Given the description of an element on the screen output the (x, y) to click on. 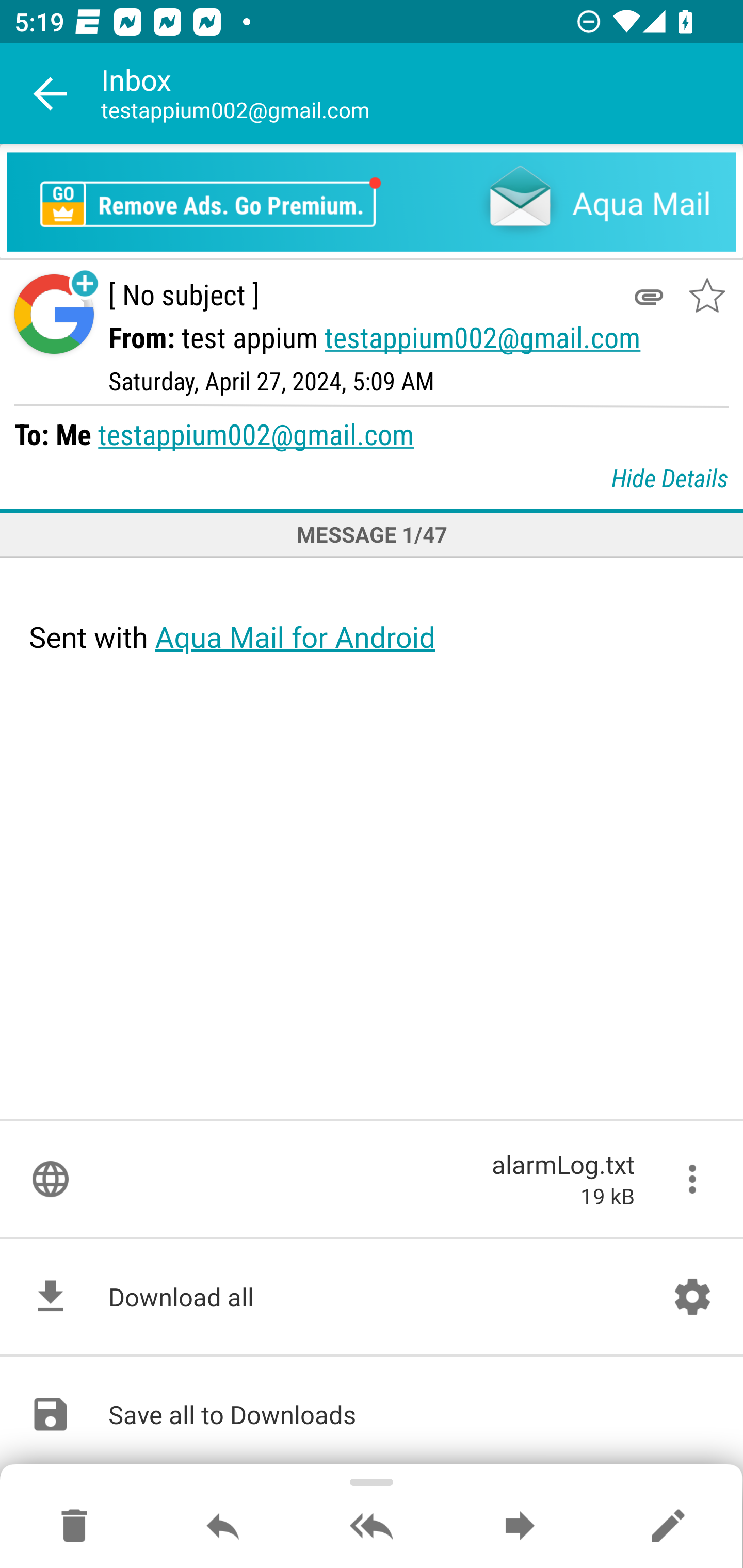
Navigate up (50, 93)
Inbox testappium002@gmail.com (422, 93)
Sender contact button (53, 314)
alarmLog.txt 19 kB More options (371, 1179)
More options (692, 1179)
Download all Account setup (371, 1296)
Account setup (692, 1296)
Save all to Downloads (371, 1414)
Move to Deleted (74, 1527)
Reply (222, 1527)
Reply all (371, 1527)
Forward (519, 1527)
Reply as new (667, 1527)
